Given the description of an element on the screen output the (x, y) to click on. 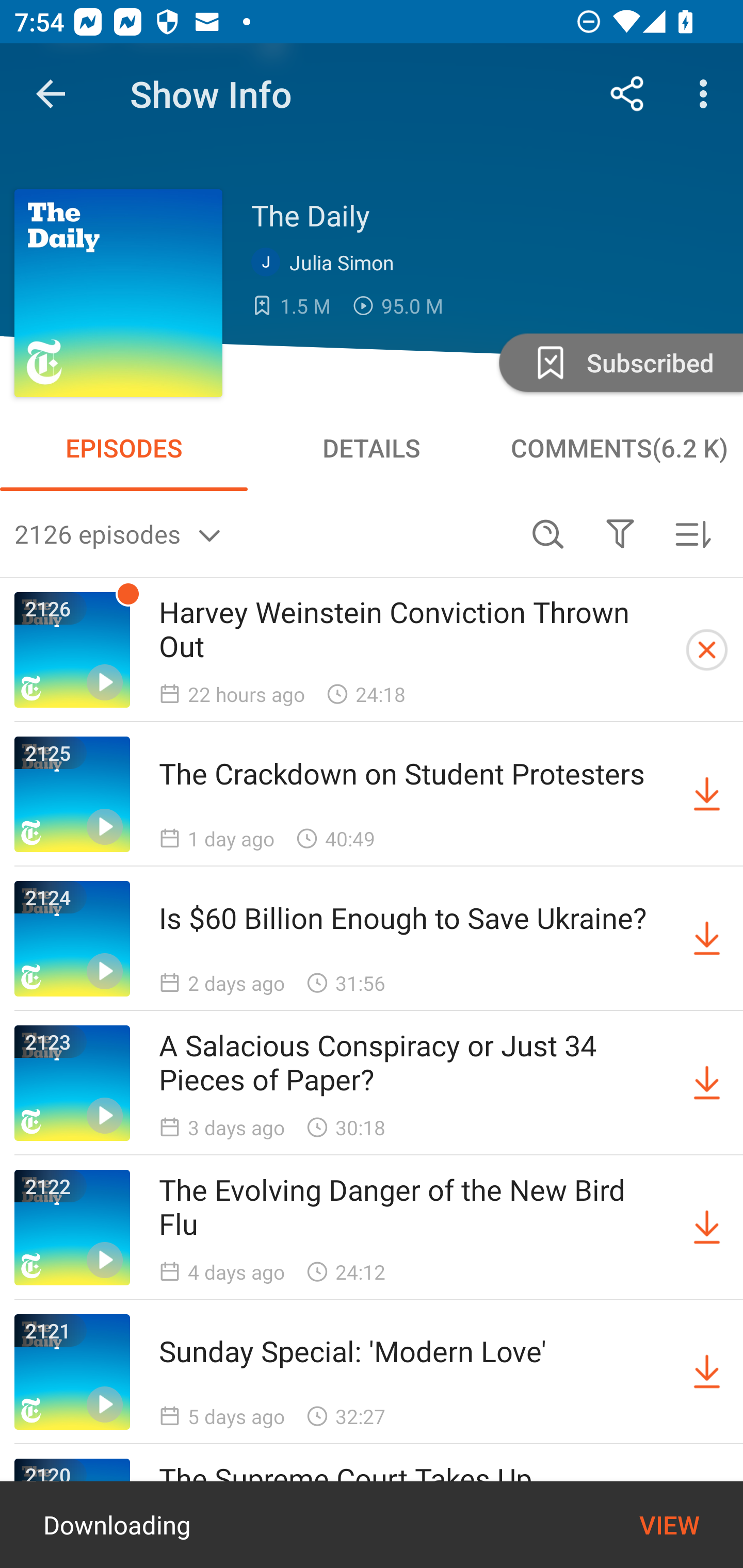
Navigate up (50, 93)
Share (626, 93)
More options (706, 93)
Julia Simon (327, 262)
Unsubscribe Subscribed (619, 361)
EPISODES (123, 447)
DETAILS (371, 447)
COMMENTS(6.2 K) (619, 447)
2126 episodes  (262, 533)
 Search (547, 533)
 (619, 533)
 Sorted by newest first (692, 533)
Cancel Downloading (706, 649)
Download (706, 793)
Download (706, 939)
Download (706, 1083)
Download (706, 1227)
Download (706, 1371)
Downloading VIEW (371, 1524)
VIEW (669, 1524)
